Given the description of an element on the screen output the (x, y) to click on. 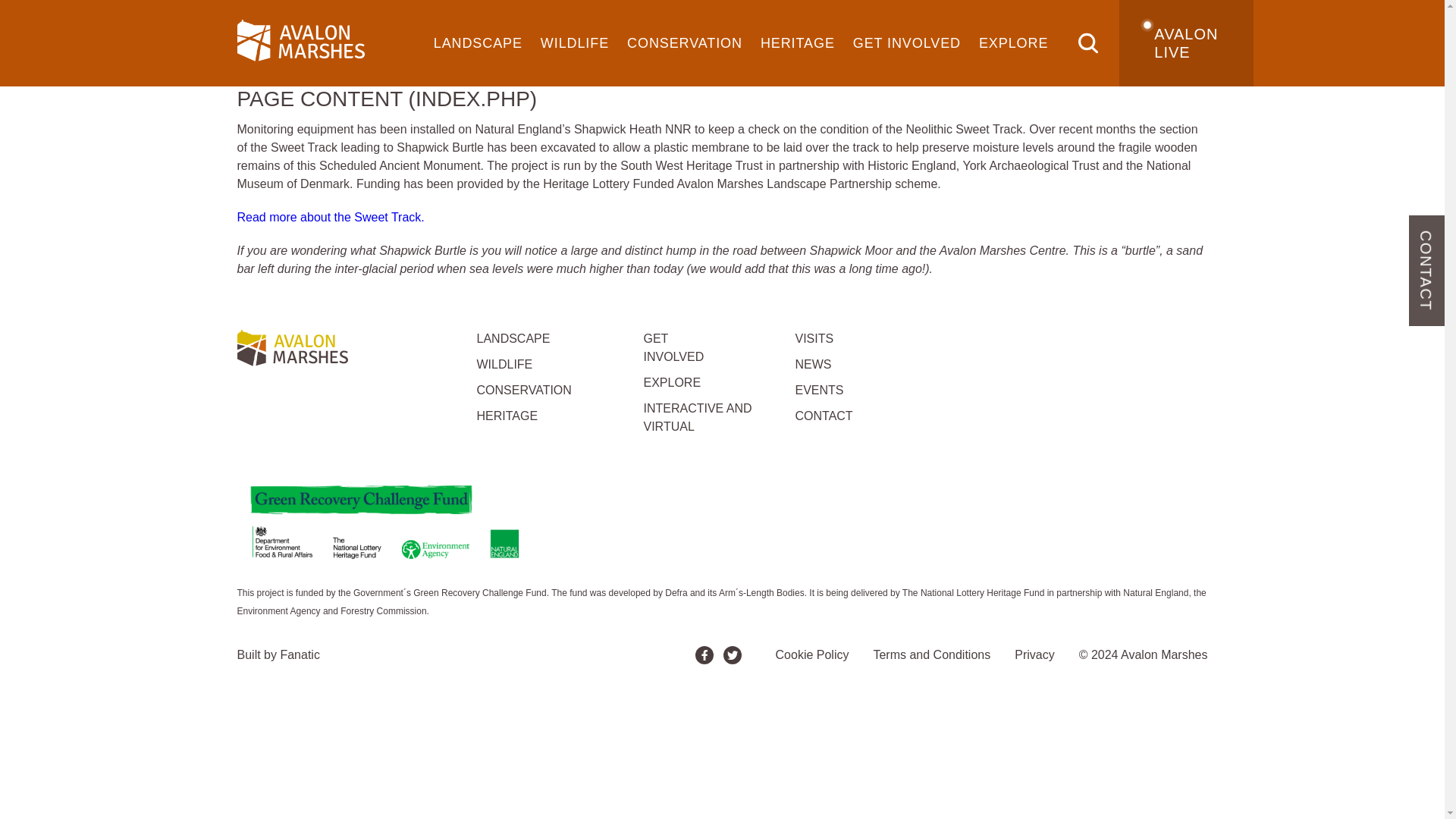
GET INVOLVED (906, 43)
HERITAGE (797, 43)
CONSERVATION (684, 43)
Avalon Marshes (299, 42)
WILDLIFE (574, 43)
Avalon Marshes (291, 351)
LANDSCAPE (478, 43)
EXPLORE (1013, 43)
